Given the description of an element on the screen output the (x, y) to click on. 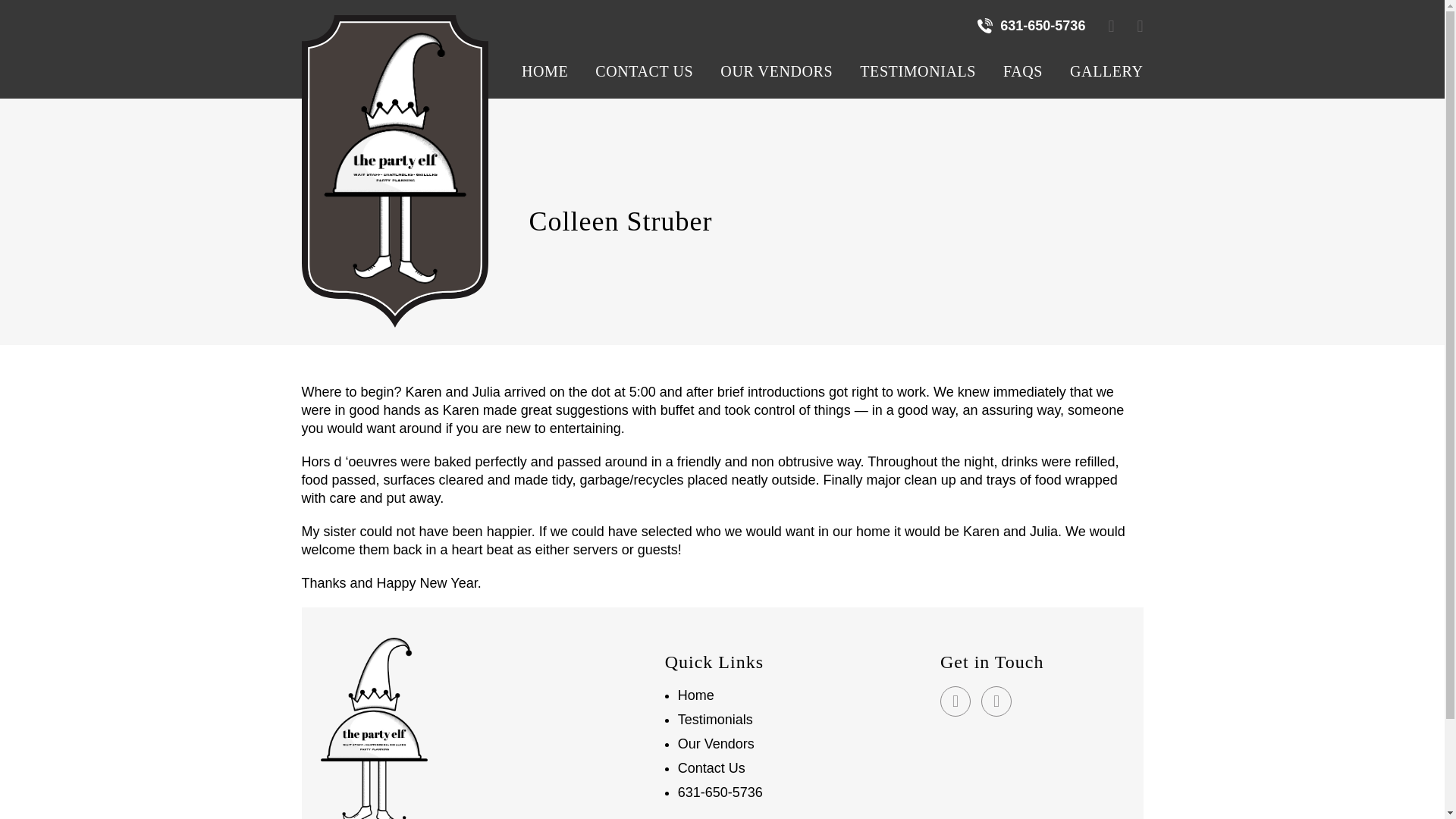
631-650-5736 (1030, 25)
631-650-5736 (720, 792)
Home (696, 694)
Facebook (955, 701)
Faqs (1023, 69)
HOME (544, 69)
FAQS (1023, 69)
OUR VENDORS (775, 69)
CONTACT US (643, 69)
GALLERY (1099, 69)
